Given the description of an element on the screen output the (x, y) to click on. 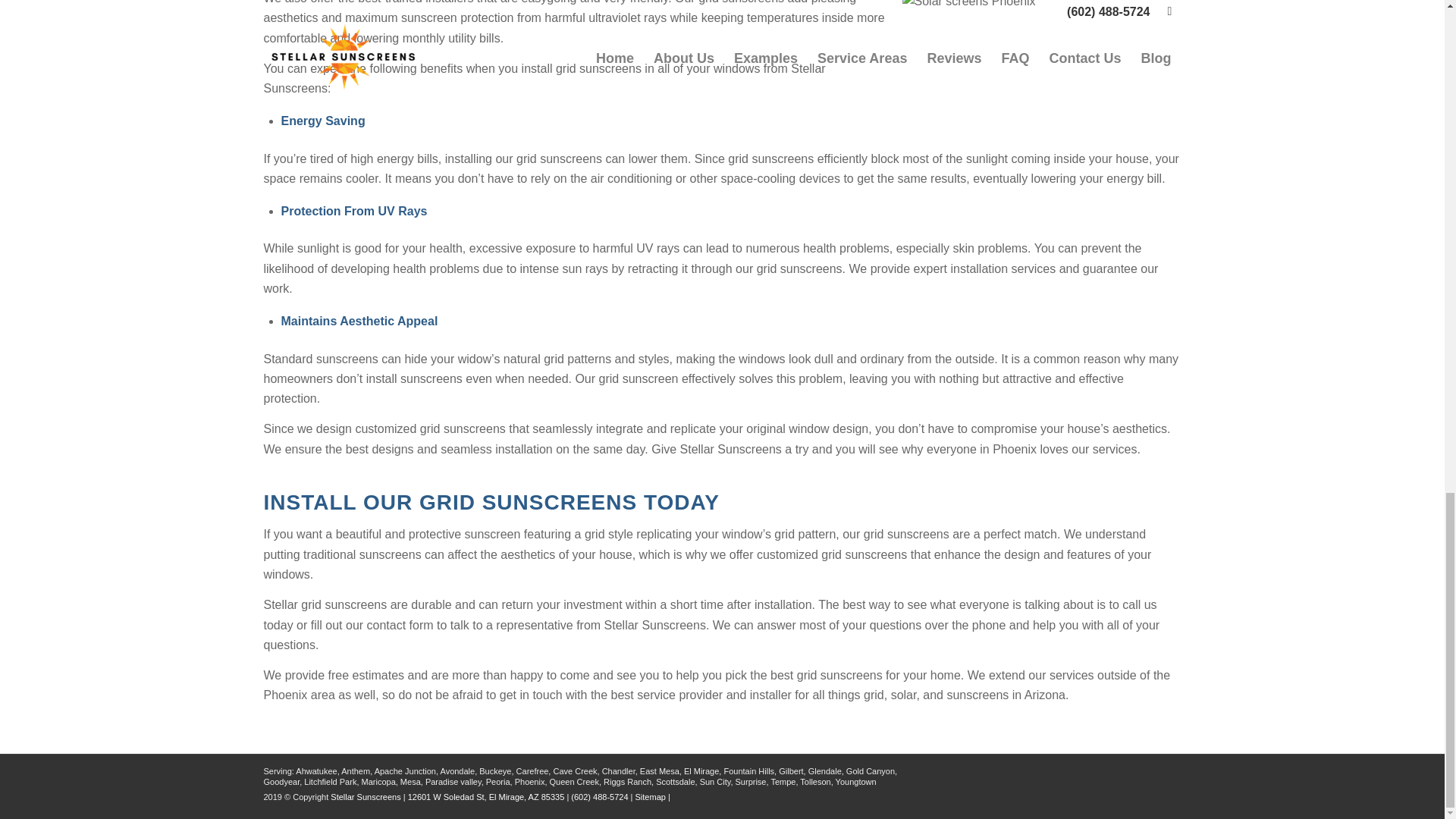
12601 W Soledad St, El Mirage, AZ 85335 (485, 796)
Stellar Sunscreens (365, 796)
Sitemap (649, 796)
